Given the description of an element on the screen output the (x, y) to click on. 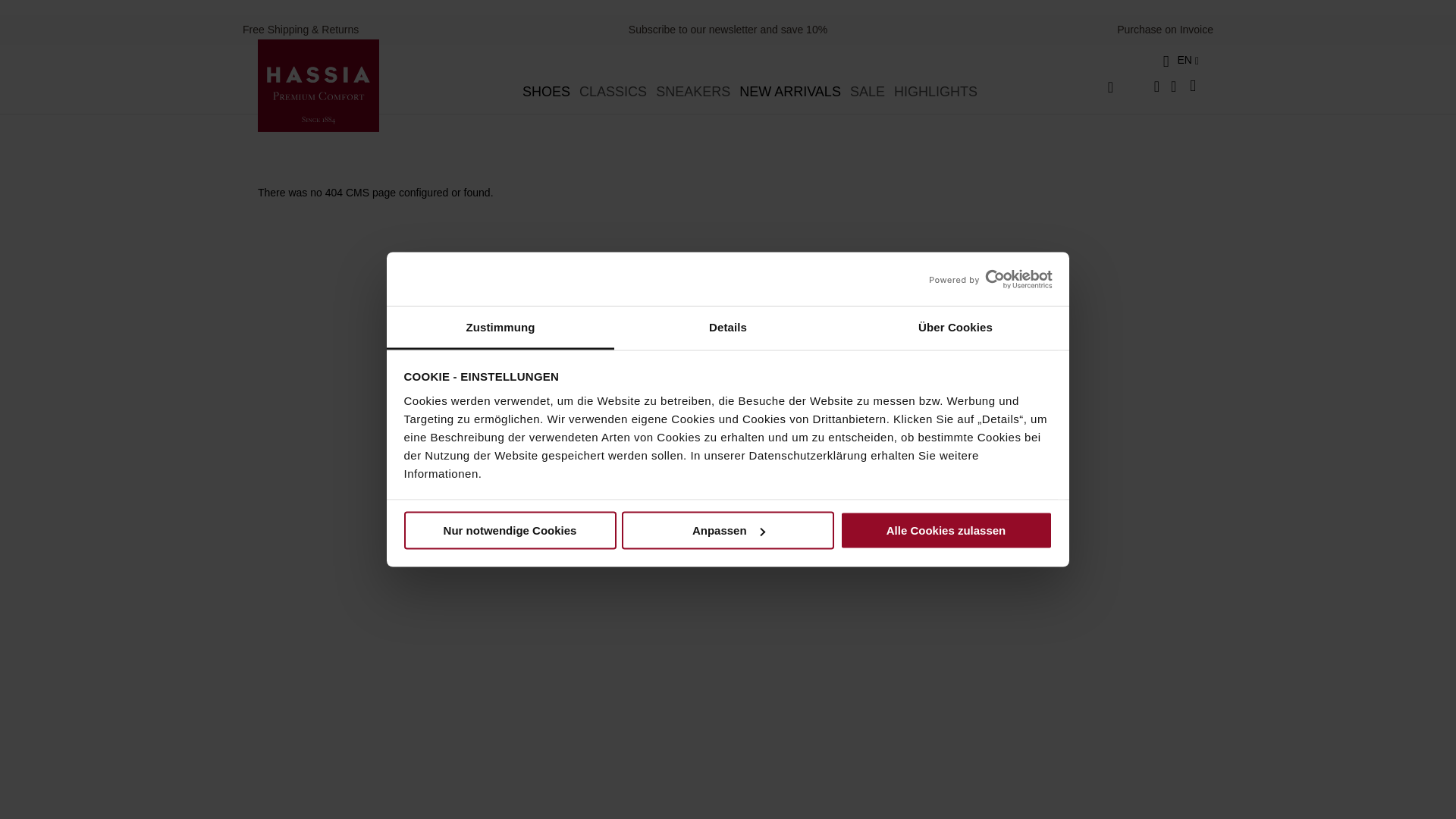
Anpassen (727, 530)
Details (727, 327)
Zustimmung (500, 327)
Alle Cookies zulassen (946, 530)
Nur notwendige Cookies (509, 530)
